Given the description of an element on the screen output the (x, y) to click on. 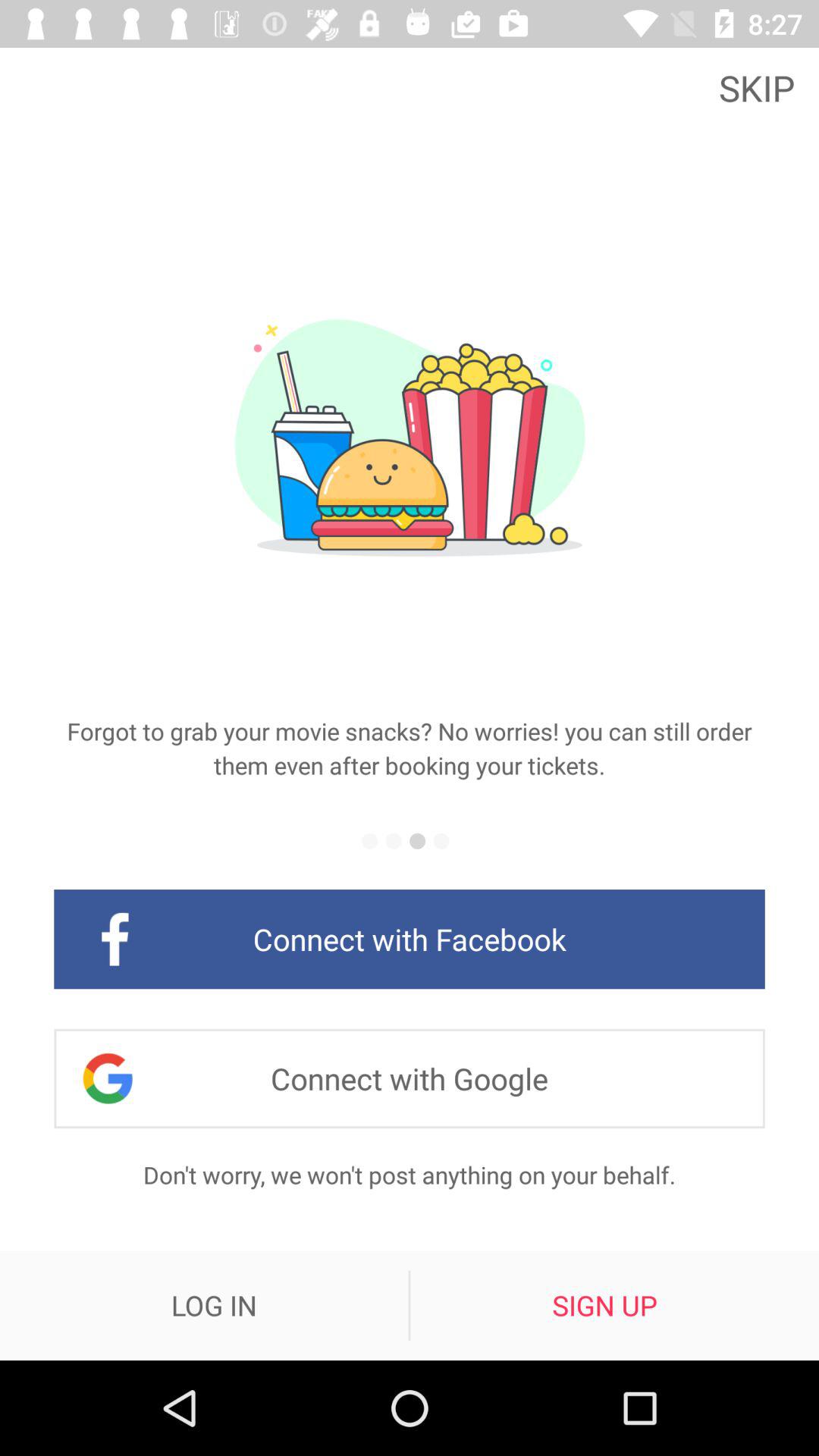
open the sign up icon (604, 1305)
